Given the description of an element on the screen output the (x, y) to click on. 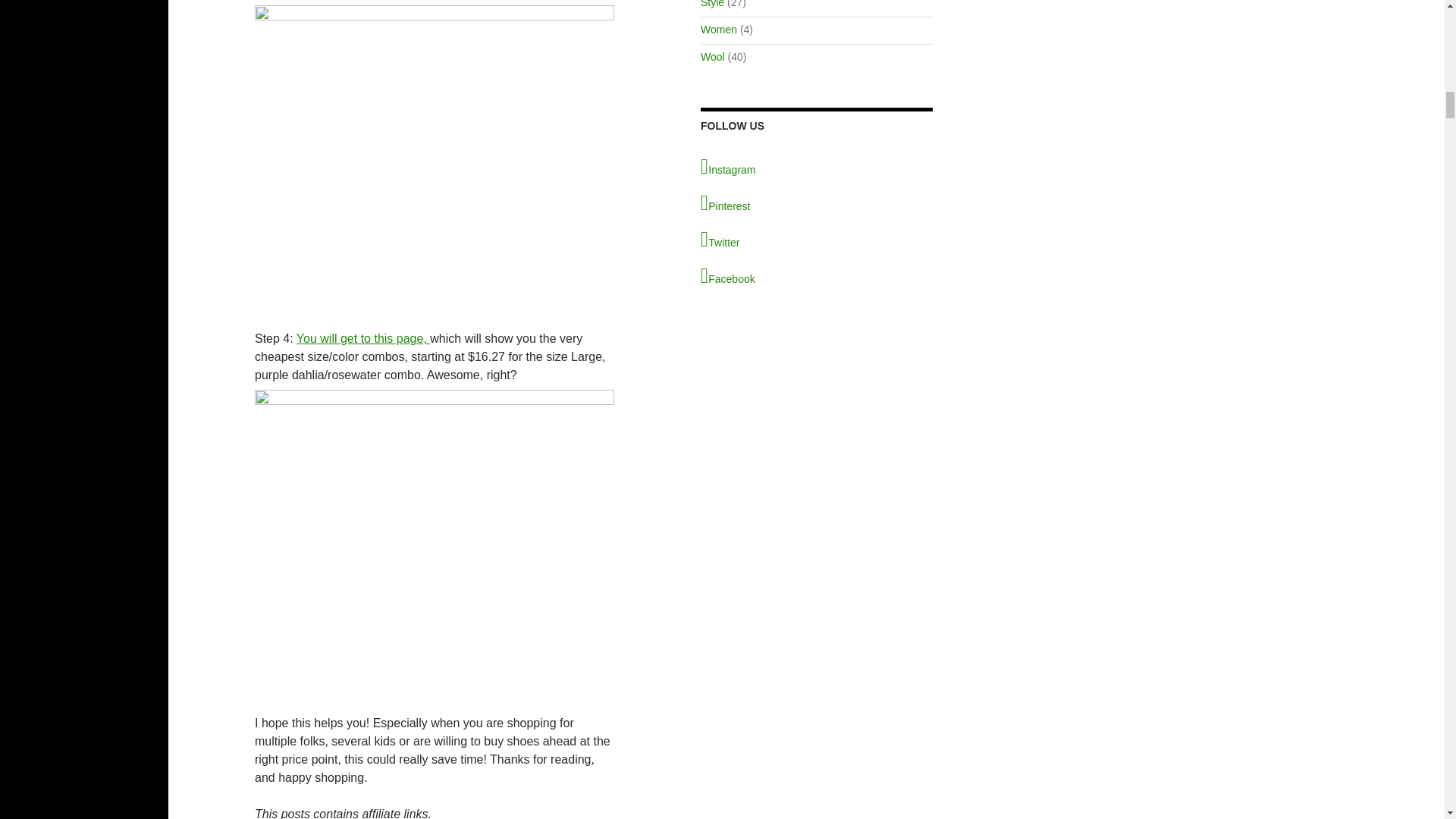
Visit Wool Obsessed on Twitter (816, 239)
Visit Wool Obsessed on Pinterest (816, 202)
Visit Wool Obsessed on Instagram (816, 166)
Visit Wool Obsessed on Facebook (816, 275)
You will get to this page, (363, 338)
